Given the description of an element on the screen output the (x, y) to click on. 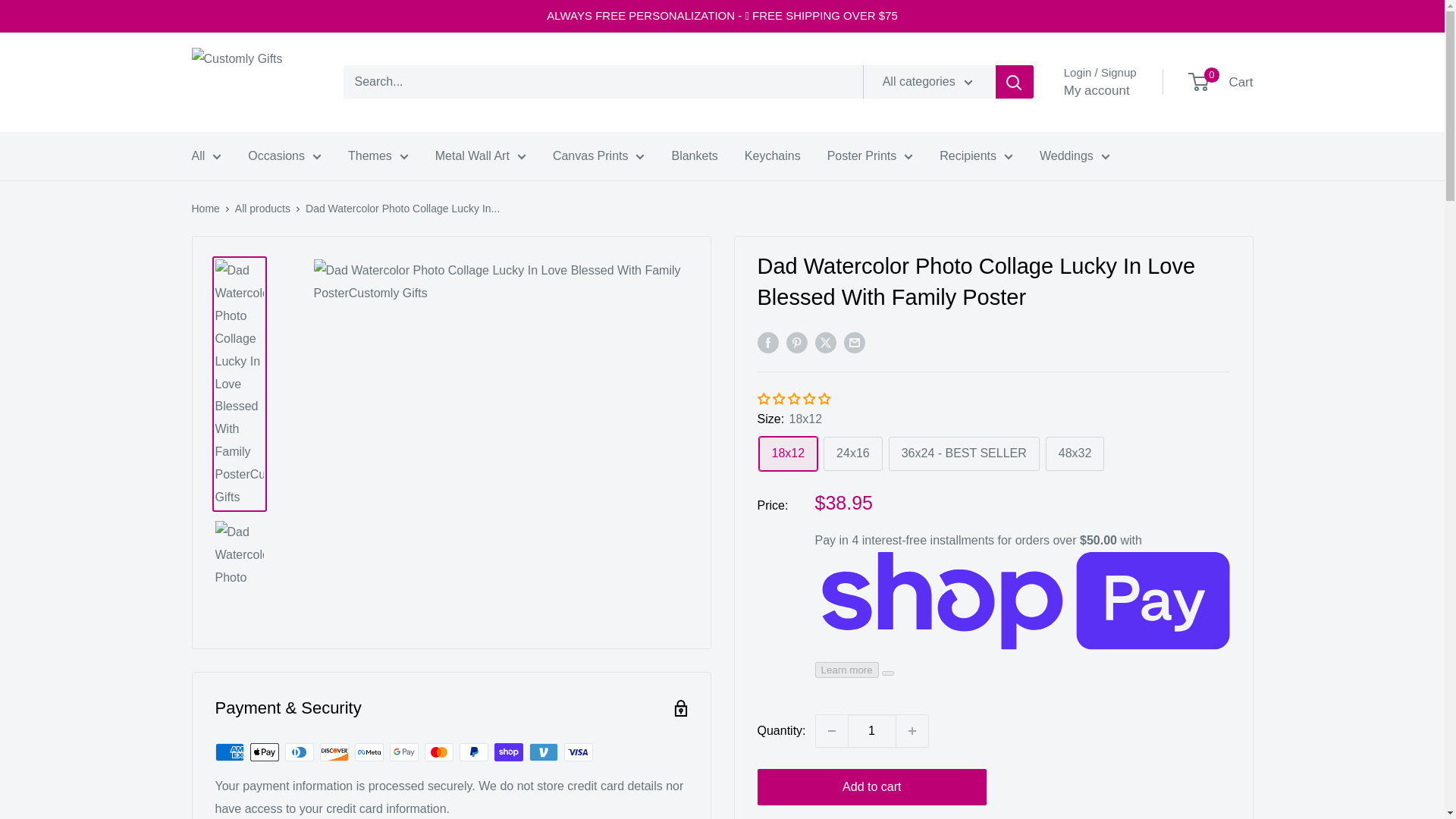
24x16 (853, 453)
36x24 - BEST SELLER (963, 453)
48x32 (1075, 453)
18x12 (787, 453)
1 (871, 730)
Decrease quantity by 1 (831, 730)
Increase quantity by 1 (912, 730)
